Given the description of an element on the screen output the (x, y) to click on. 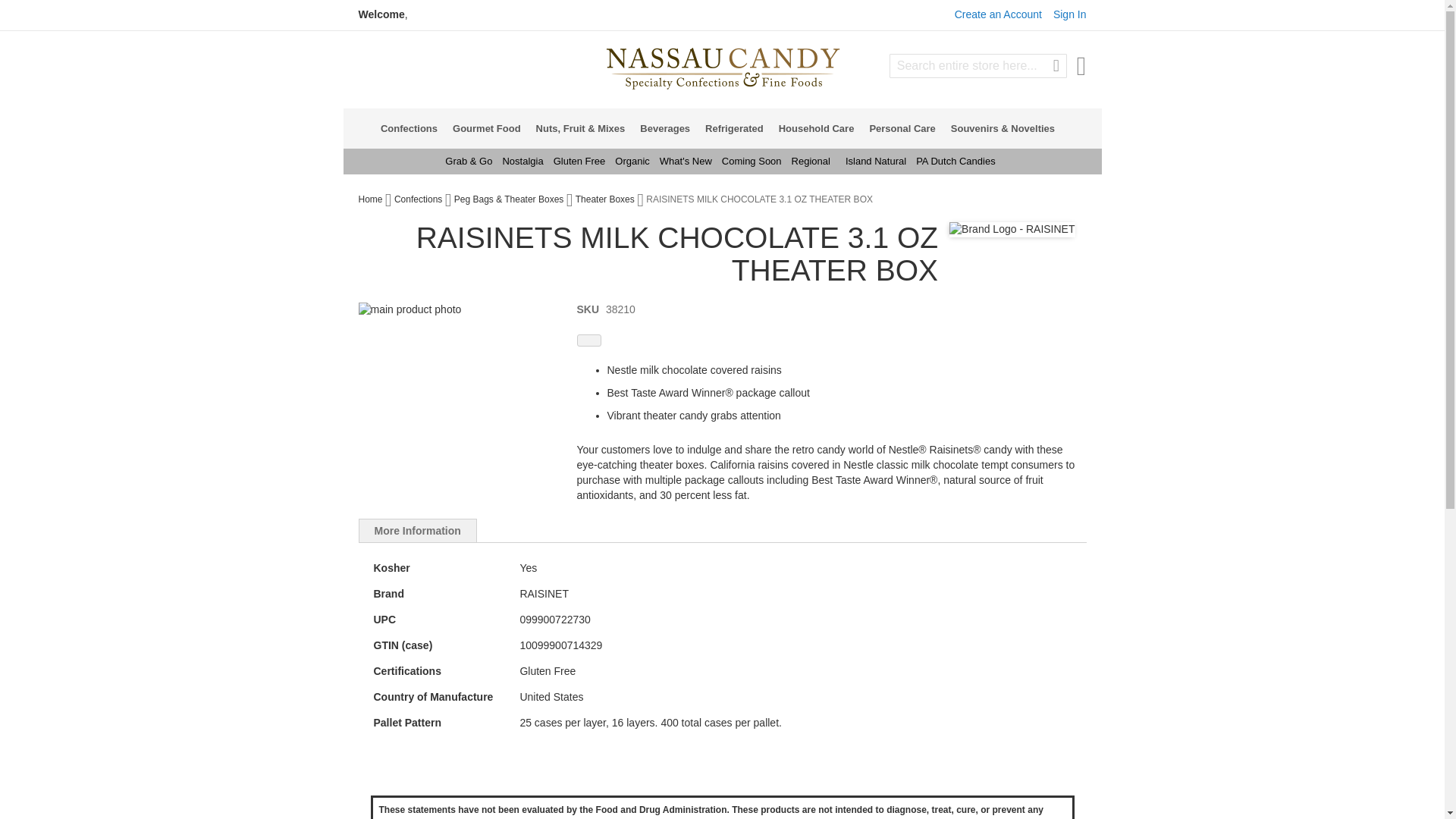
Sign In (1069, 14)
Create an Account (998, 14)
Gourmet Food (490, 128)
Go to Home Page (371, 199)
Confections (413, 128)
